Given the description of an element on the screen output the (x, y) to click on. 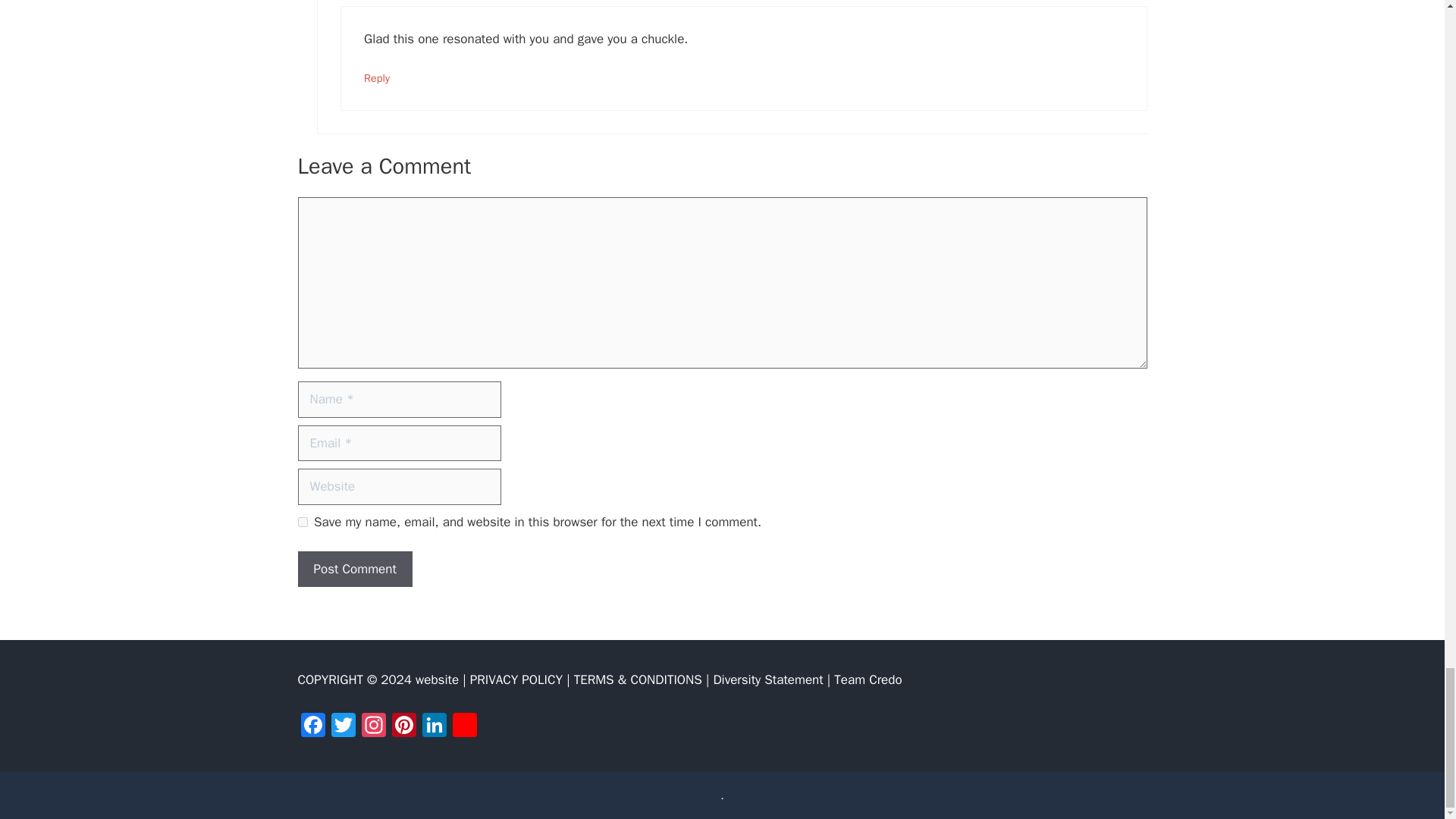
LinkedIn (433, 727)
Instagram (373, 727)
Twitter (342, 727)
Post Comment (354, 569)
Pinterest (403, 727)
yes (302, 521)
YouTube Channel (463, 727)
Facebook (312, 727)
